Given the description of an element on the screen output the (x, y) to click on. 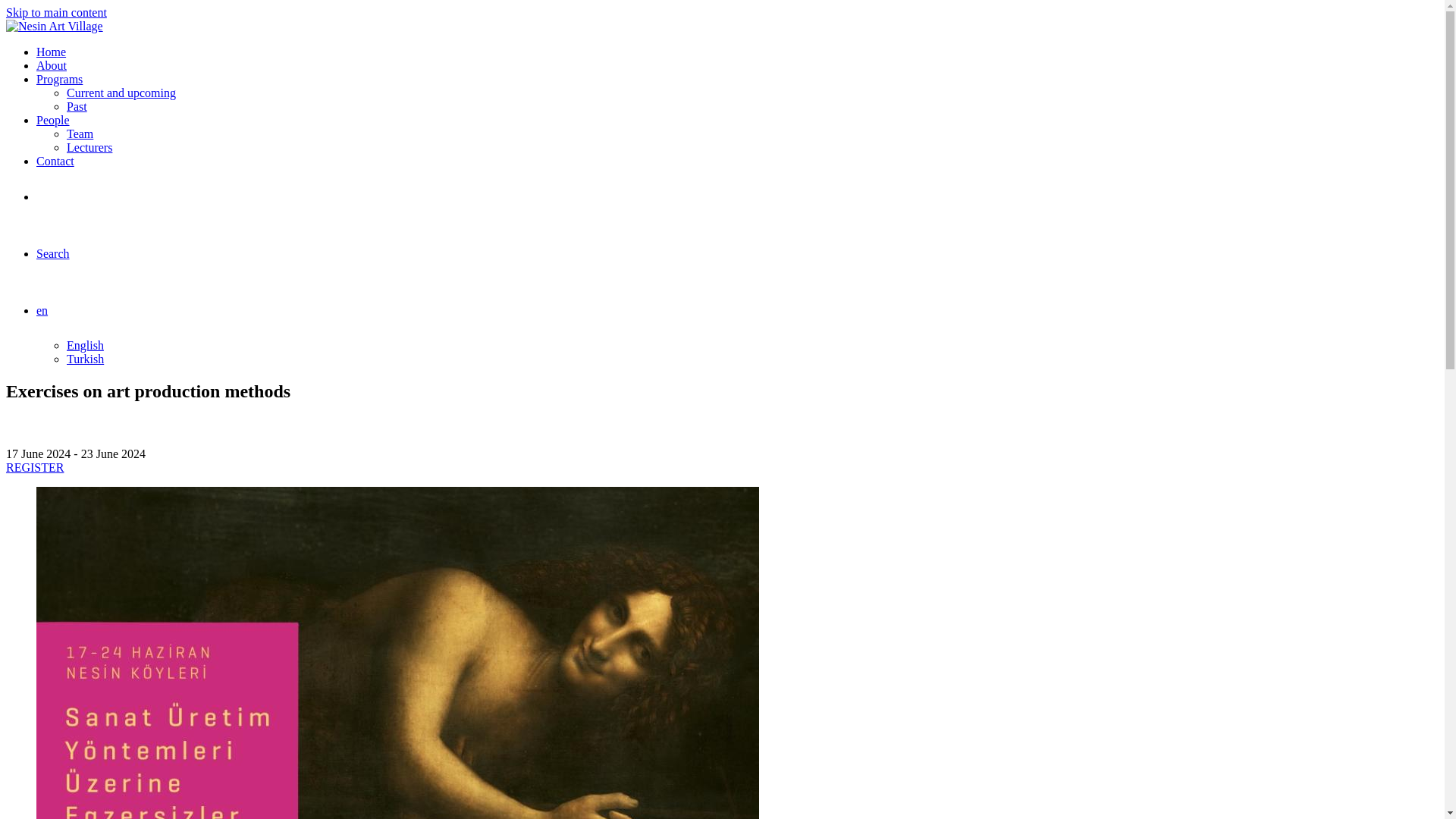
Turkish (84, 358)
Home (50, 51)
Search (52, 253)
Team (79, 133)
Past (76, 106)
People (52, 119)
Lecturers (89, 146)
Current and upcoming (121, 92)
English (84, 345)
Nesin Art Village (54, 26)
Contact (55, 160)
Skip to main content (55, 11)
About (51, 65)
Programs (59, 78)
